Given the description of an element on the screen output the (x, y) to click on. 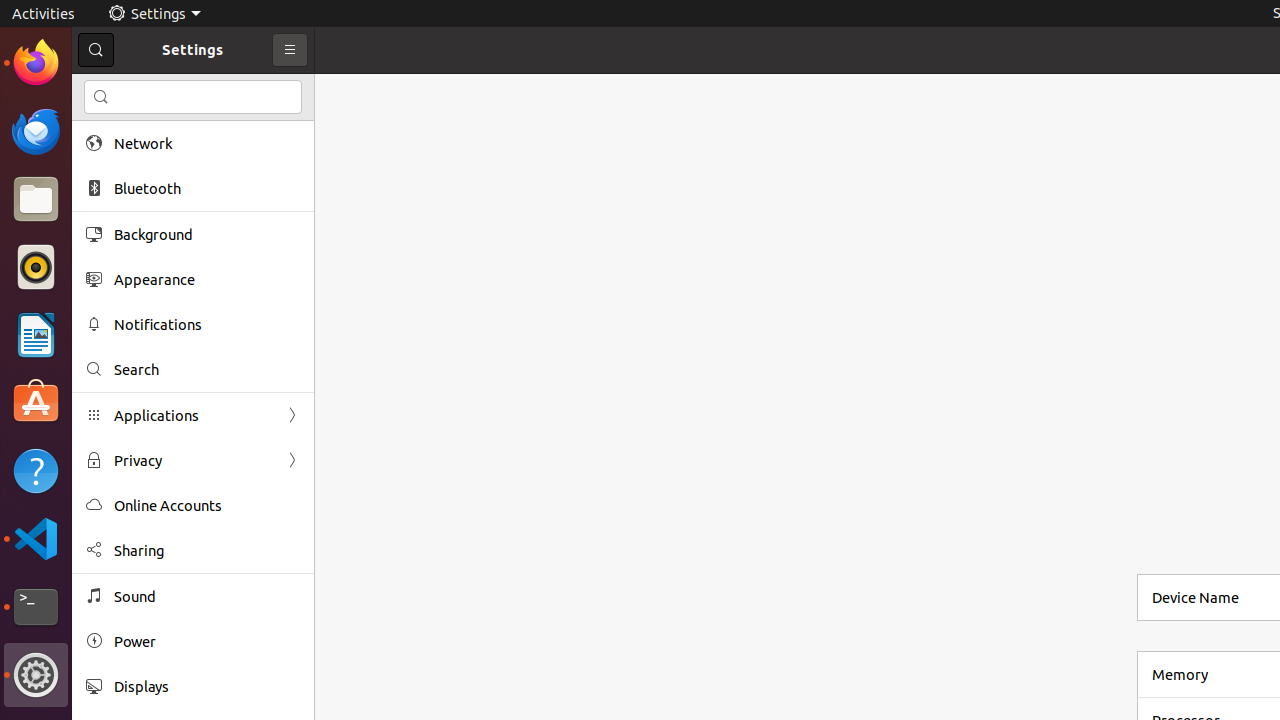
luyi1 Element type: label (133, 89)
Online Accounts Element type: label (207, 505)
Notifications Element type: label (207, 324)
Terminal Element type: push-button (36, 607)
